Given the description of an element on the screen output the (x, y) to click on. 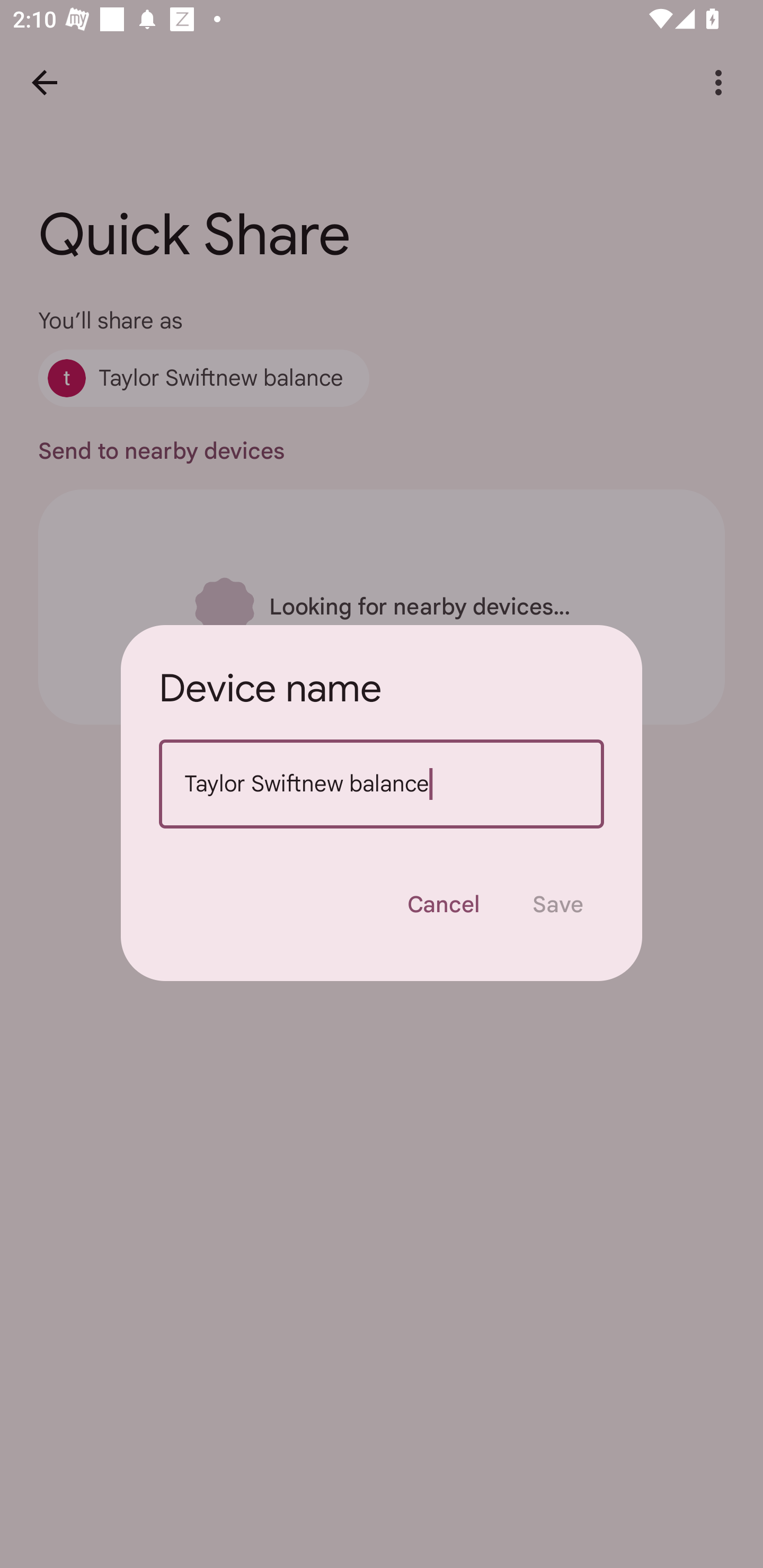
Taylor Swiftnew balance Device name (381, 783)
Cancel (443, 904)
Save (557, 904)
